Given the description of an element on the screen output the (x, y) to click on. 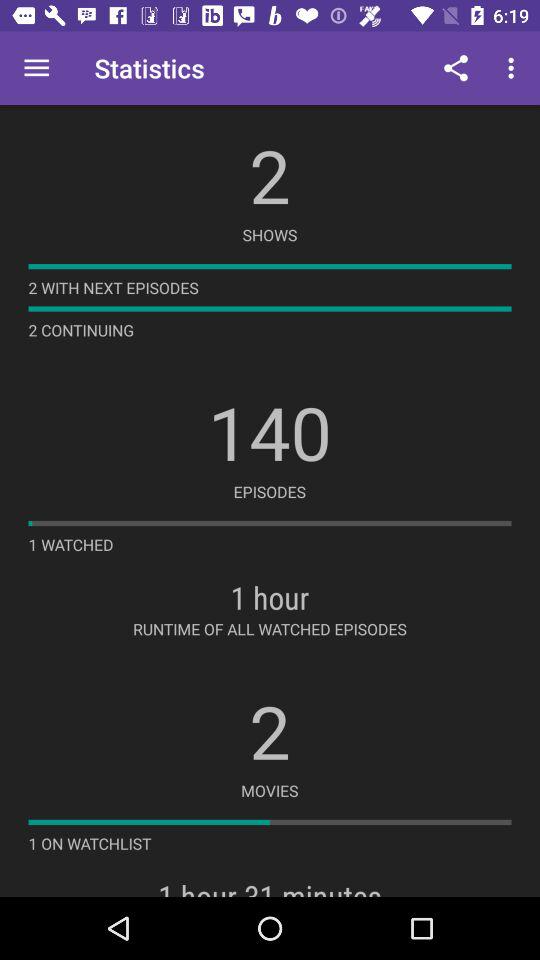
jump until 140 icon (269, 431)
